Given the description of an element on the screen output the (x, y) to click on. 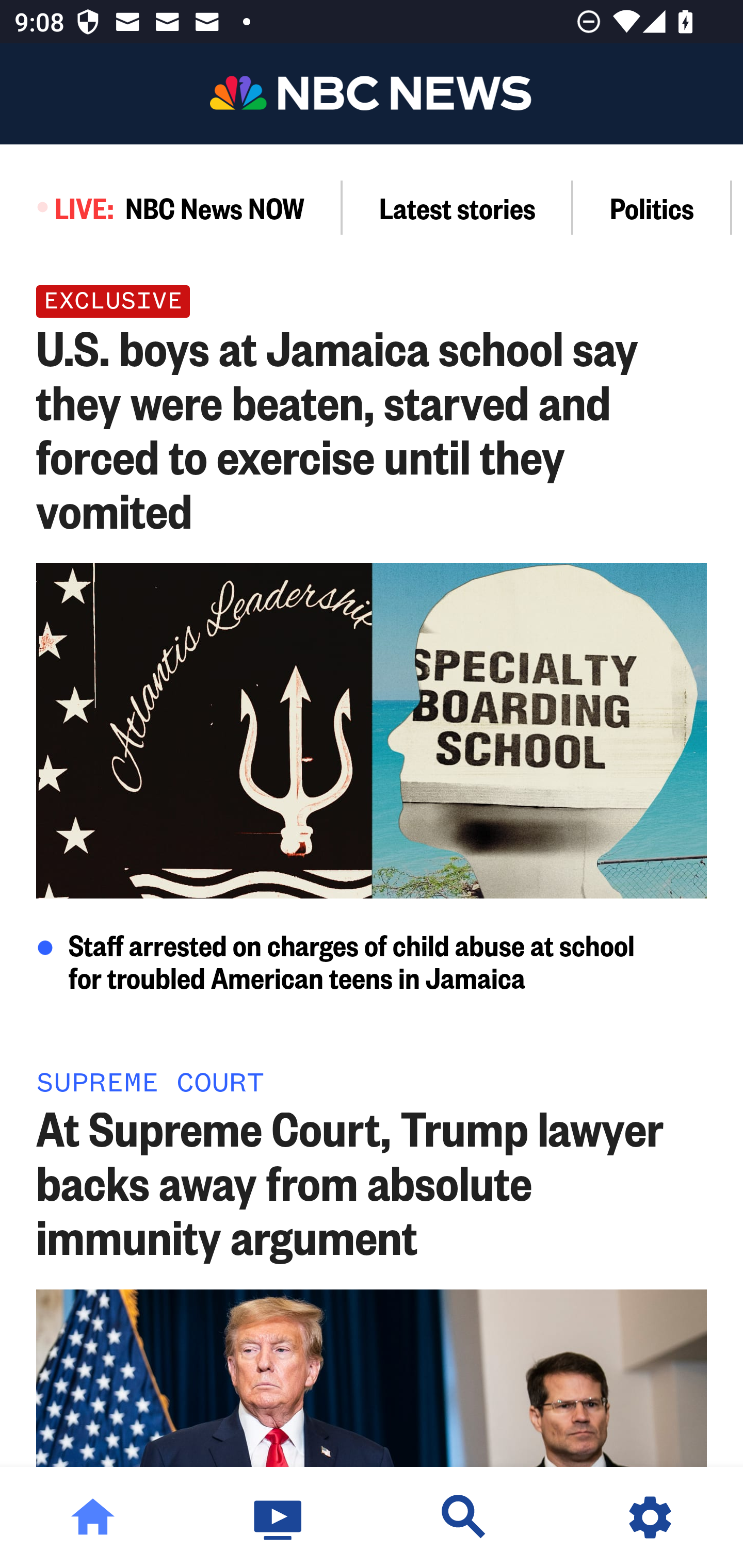
LIVE:  NBC News NOW (171, 207)
Latest stories Section,Latest stories (457, 207)
Politics Section,Politics (652, 207)
Watch (278, 1517)
Discover (464, 1517)
Settings (650, 1517)
